Given the description of an element on the screen output the (x, y) to click on. 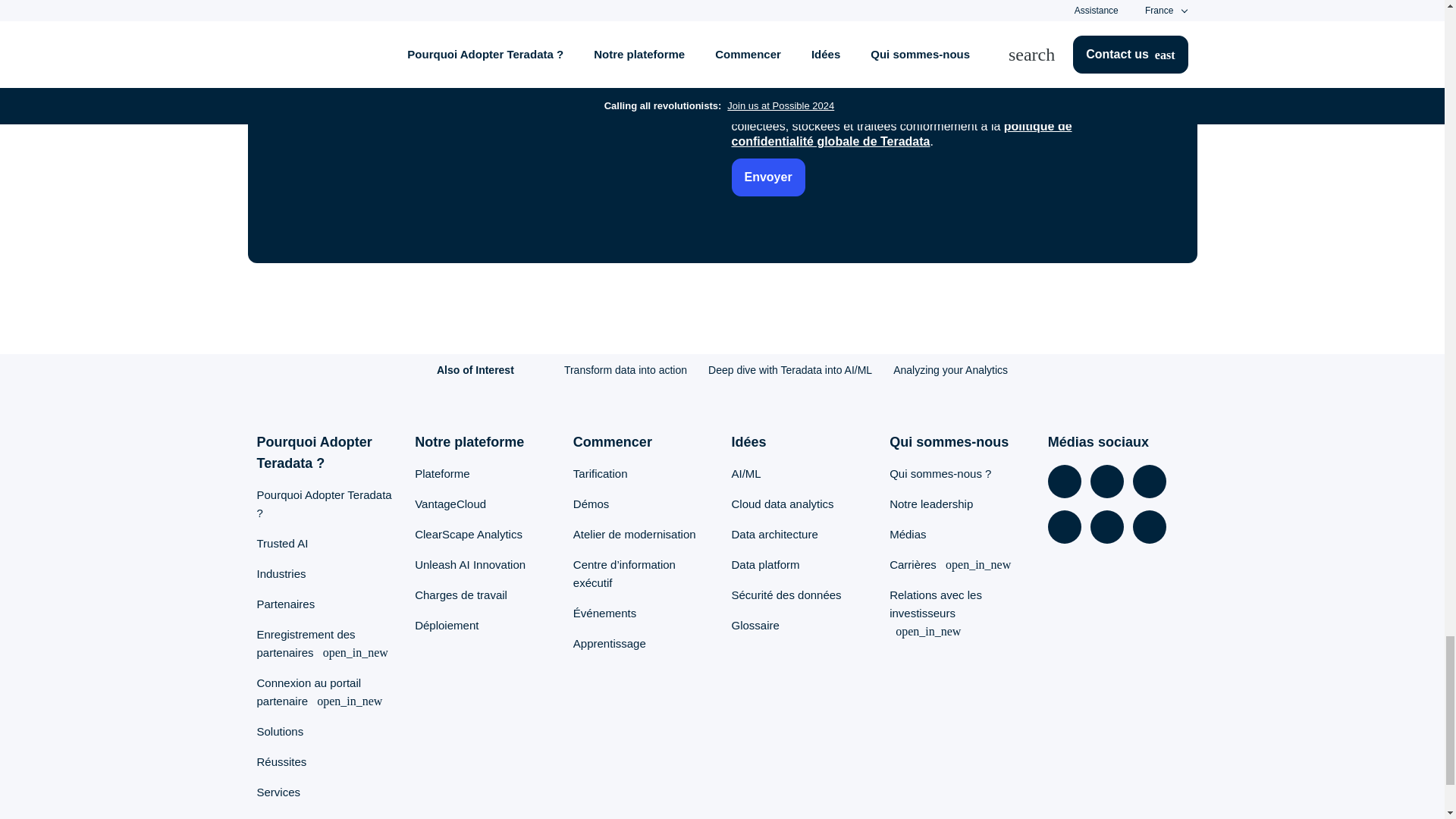
Analyzing your Analytics (950, 369)
Envoyer (767, 177)
Trusted AI (281, 543)
Pourquoi Adopter Teradata ? (323, 503)
Transform data into action (625, 369)
Industries (280, 573)
Partenaires (285, 603)
